Given the description of an element on the screen output the (x, y) to click on. 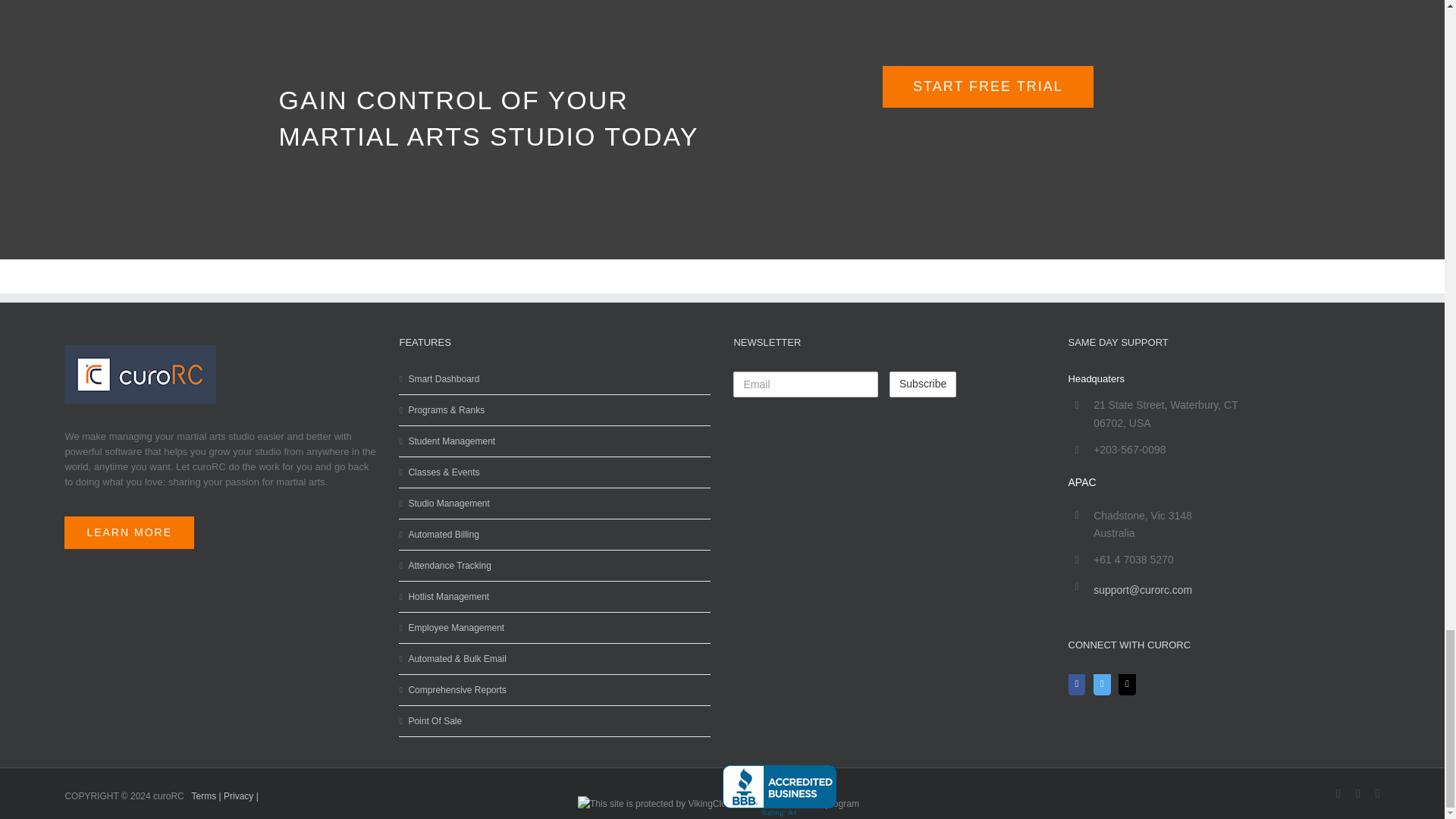
Subscribe (922, 384)
sign up (987, 86)
